Given the description of an element on the screen output the (x, y) to click on. 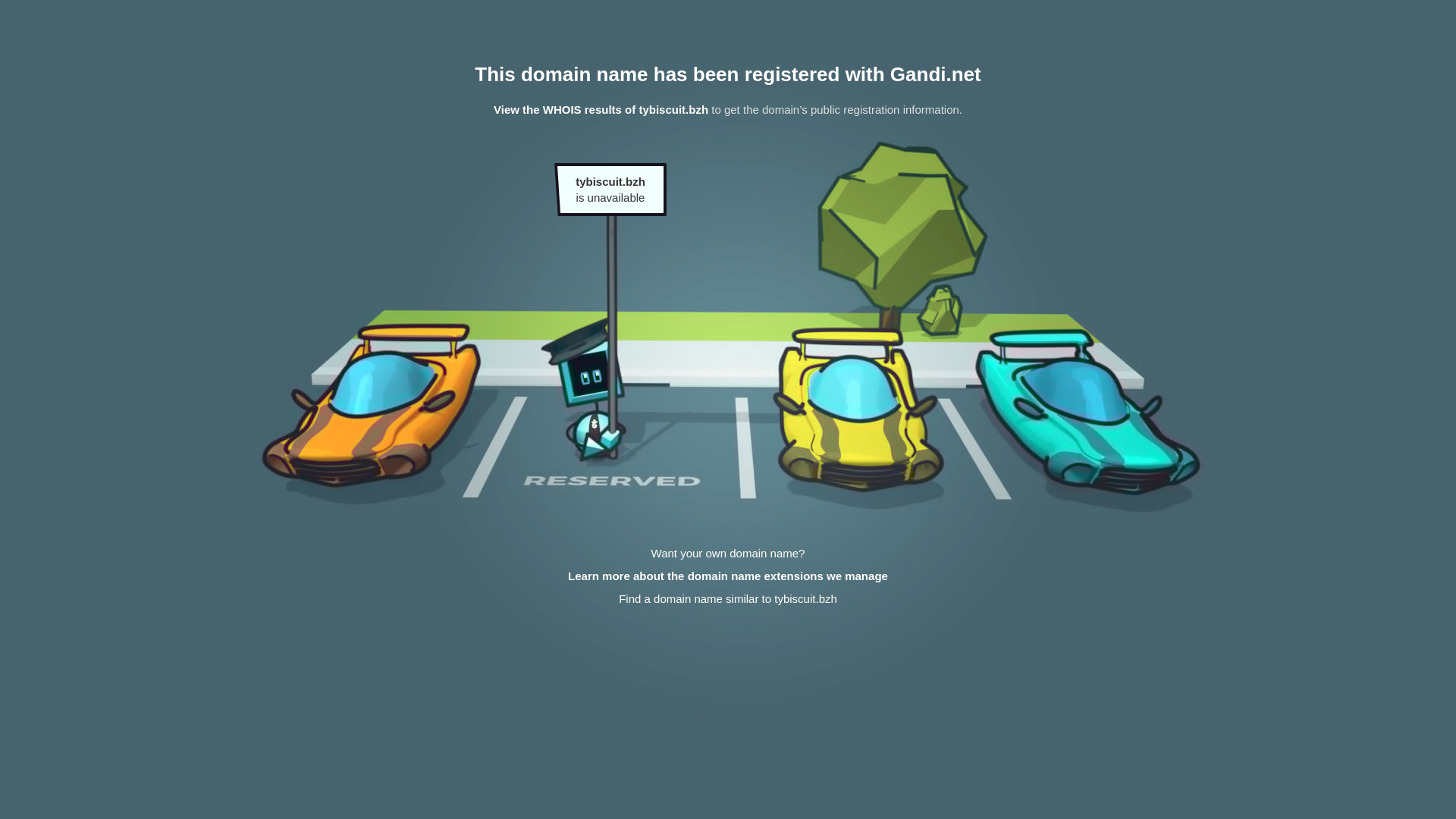
Learn more about the domain name extensions we manage Element type: text (727, 575)
Find a domain name similar to tybiscuit.bzh Element type: text (727, 598)
View the WHOIS results of tybiscuit.bzh Element type: text (600, 109)
